Given the description of an element on the screen output the (x, y) to click on. 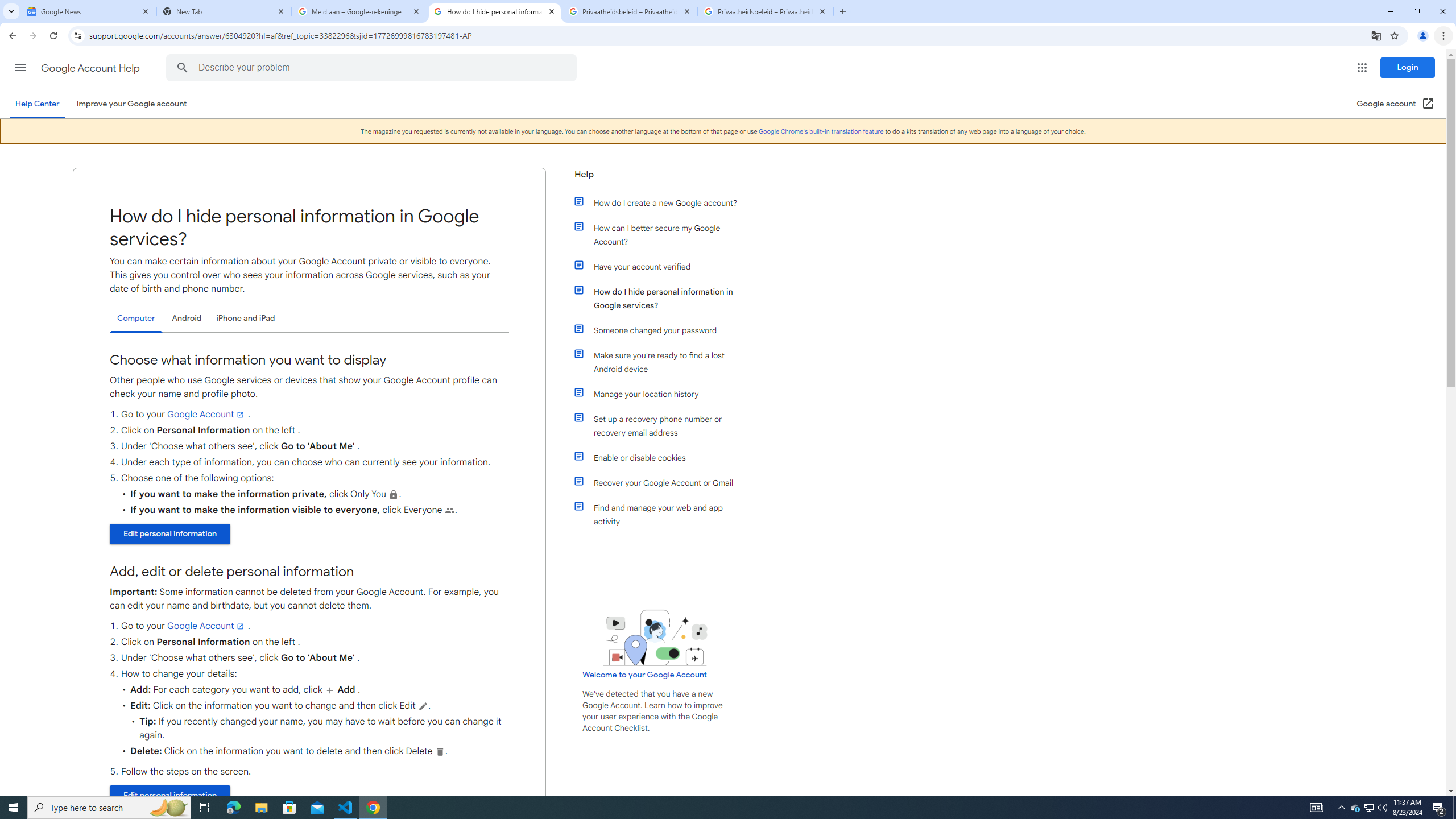
Translate this page (1376, 35)
Manage your location history (661, 394)
Describe your problem (373, 67)
To delete (439, 751)
Main menu (20, 67)
Google Account (Opens in new window) (1395, 103)
